Given the description of an element on the screen output the (x, y) to click on. 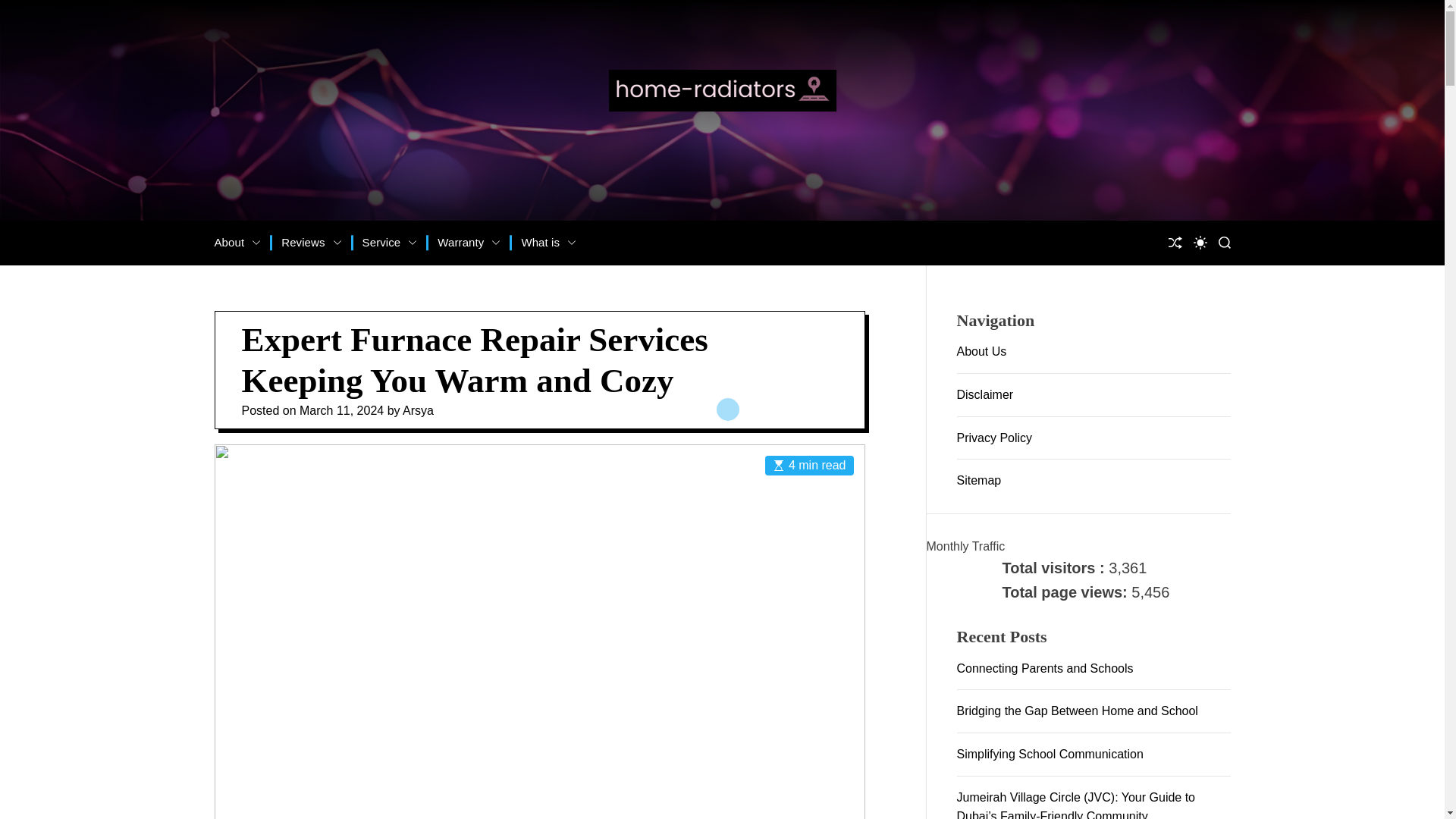
SHUFFLE (1173, 242)
Service (389, 242)
SWITCH COLOR MODE (1200, 242)
What is (548, 242)
About (237, 242)
SEARCH (1223, 242)
Warranty (469, 242)
Reviews (310, 242)
